Given the description of an element on the screen output the (x, y) to click on. 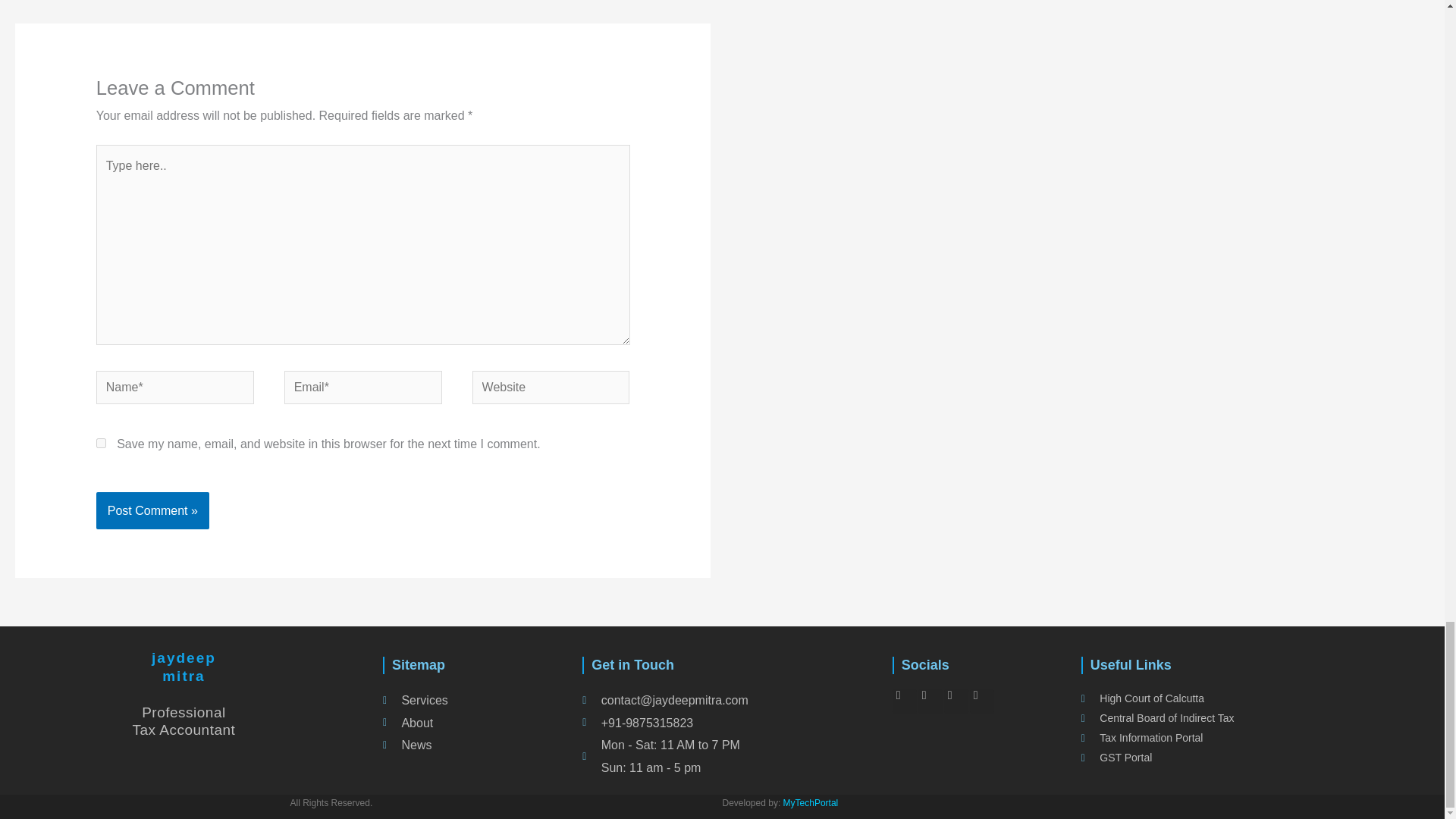
yes (101, 442)
